Given the description of an element on the screen output the (x, y) to click on. 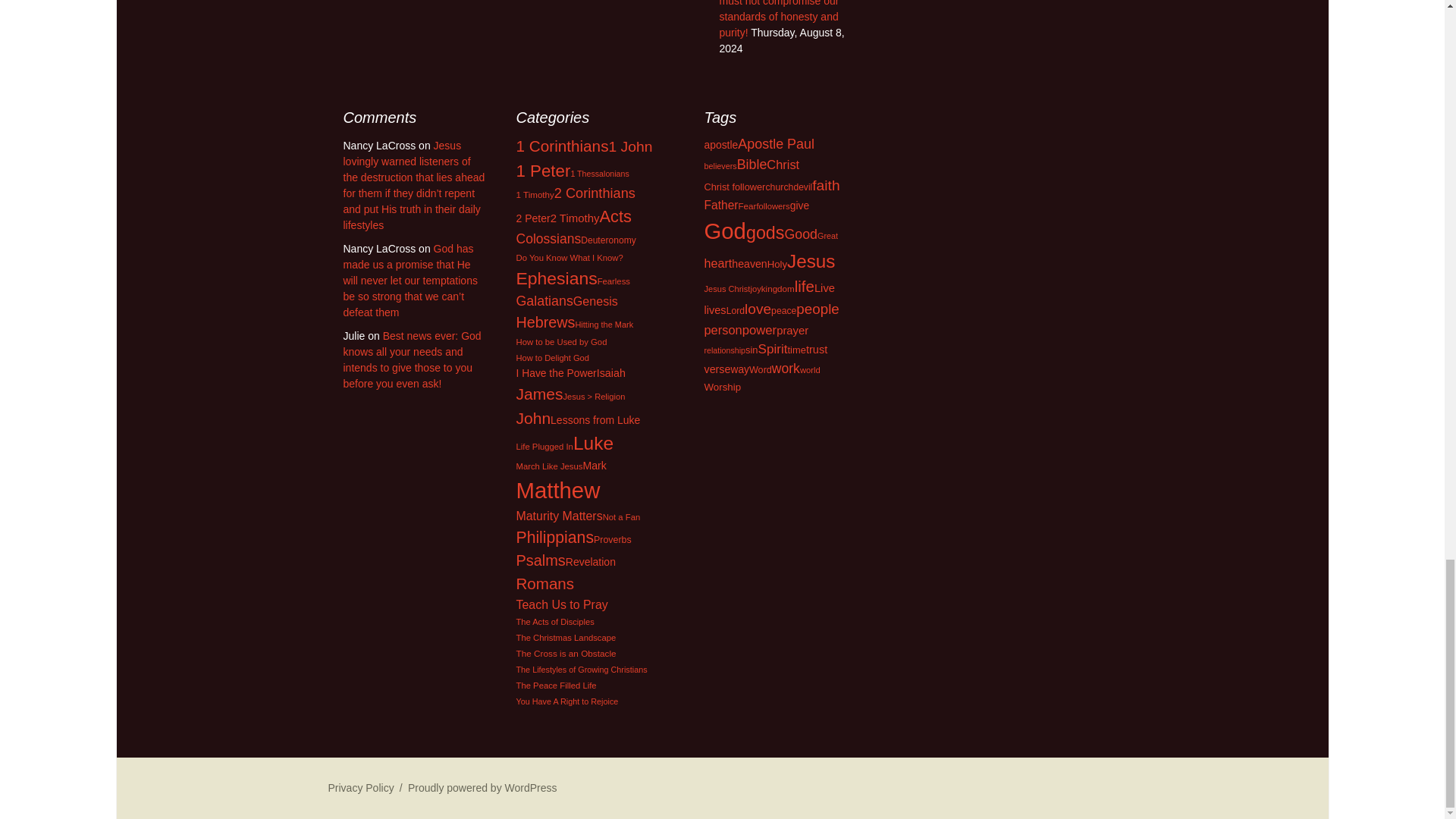
1 Corinthians (561, 145)
